Given the description of an element on the screen output the (x, y) to click on. 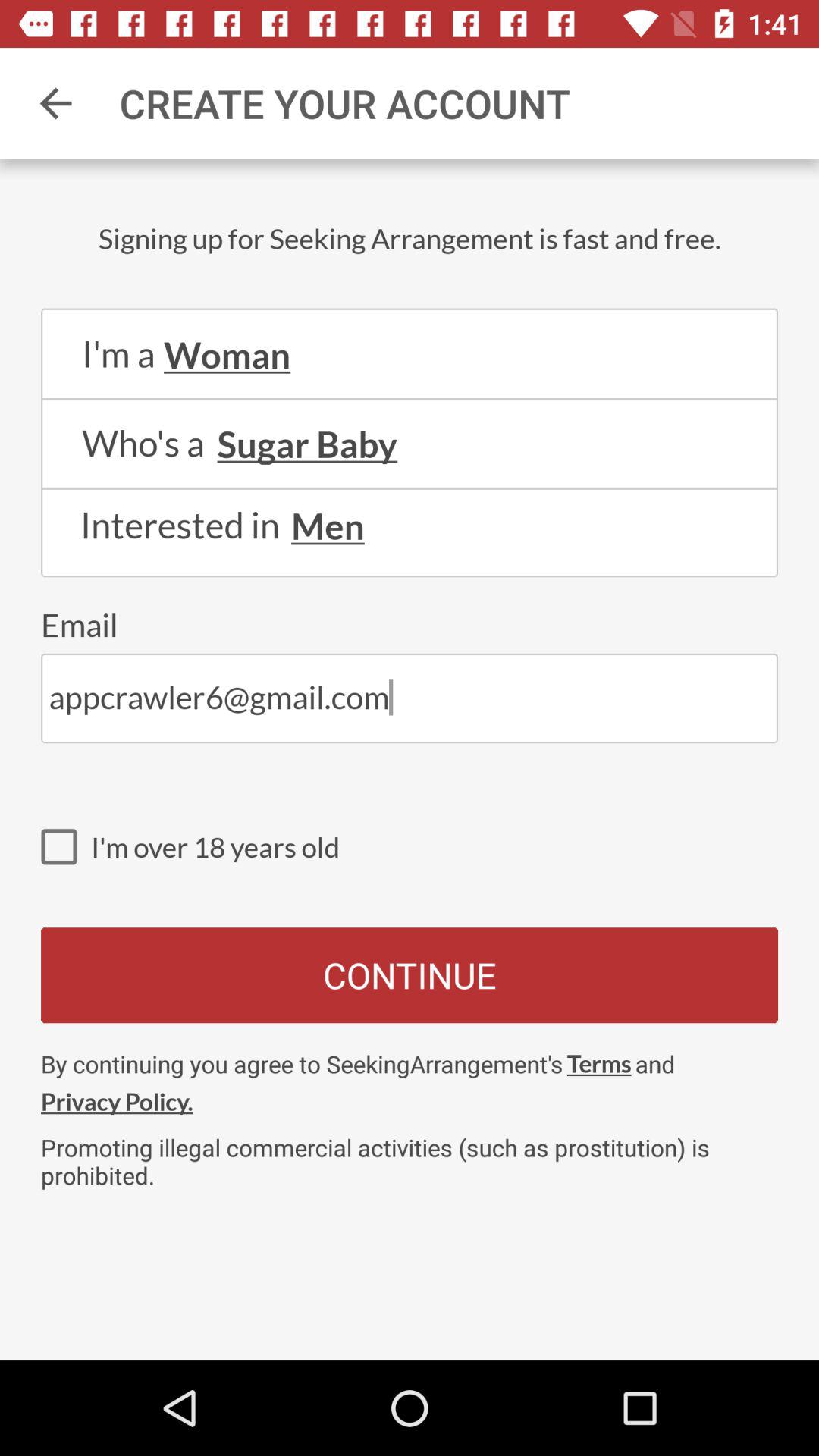
launch the item to the left of i m over (65, 846)
